Given the description of an element on the screen output the (x, y) to click on. 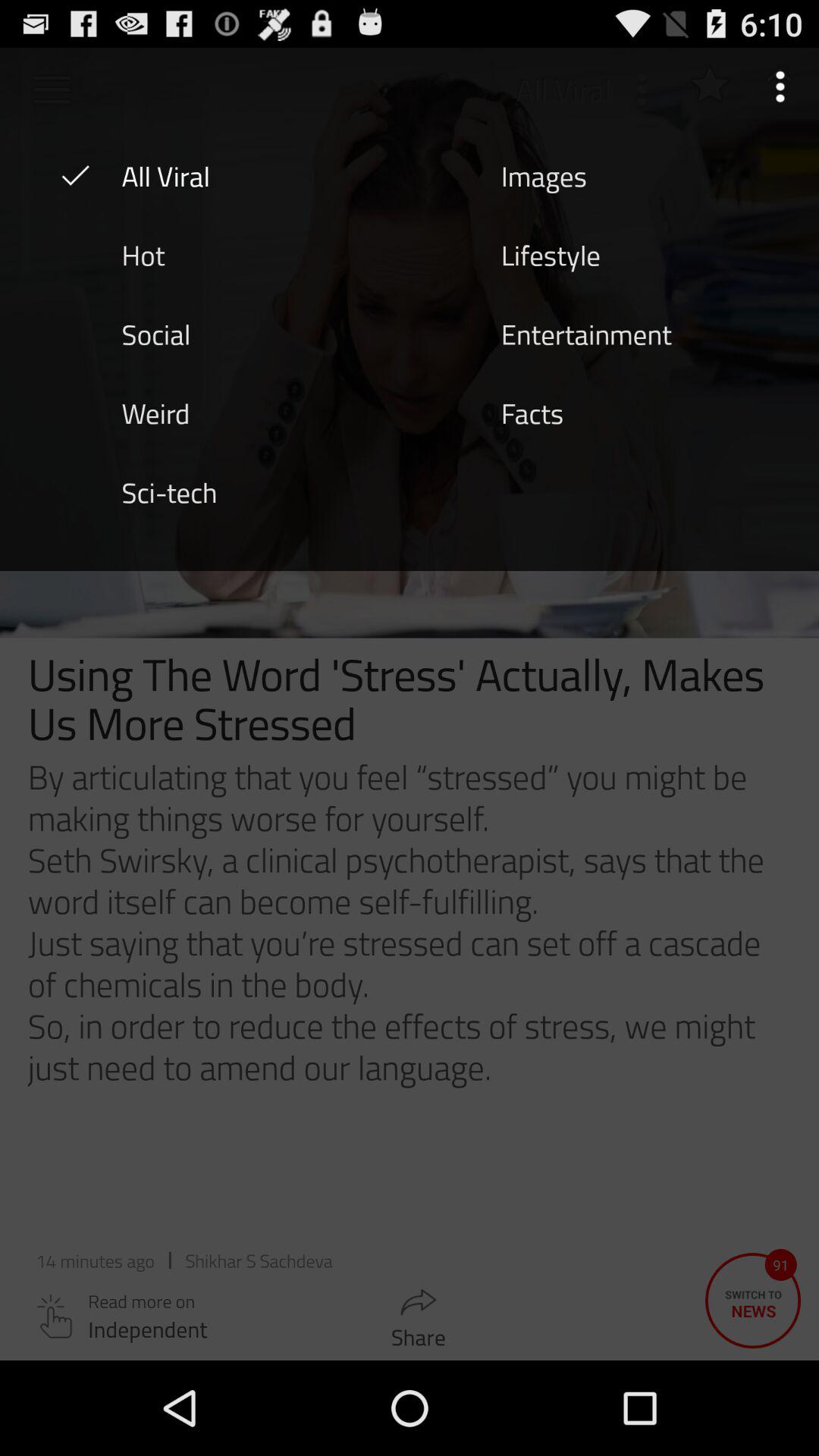
open the facts item (531, 411)
